Given the description of an element on the screen output the (x, y) to click on. 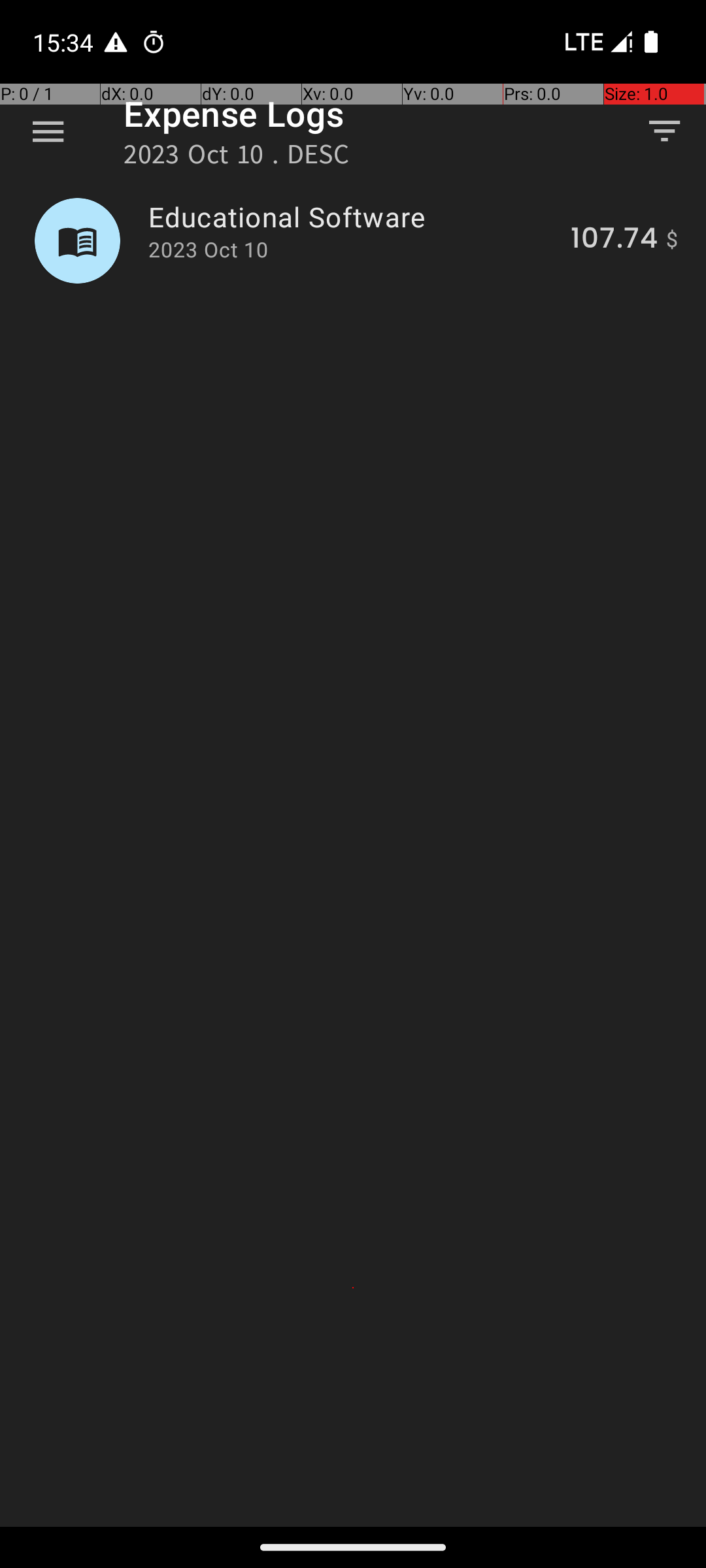
Expense Logs Element type: android.widget.TextView (233, 113)
2023 Oct 10 . DESC Element type: android.widget.TextView (236, 157)
Filter Element type: android.widget.TextView (664, 131)
Educational Software Element type: android.widget.TextView (351, 216)
107.74 Element type: android.widget.TextView (614, 240)
$ Element type: android.widget.TextView (671, 240)
